Given the description of an element on the screen output the (x, y) to click on. 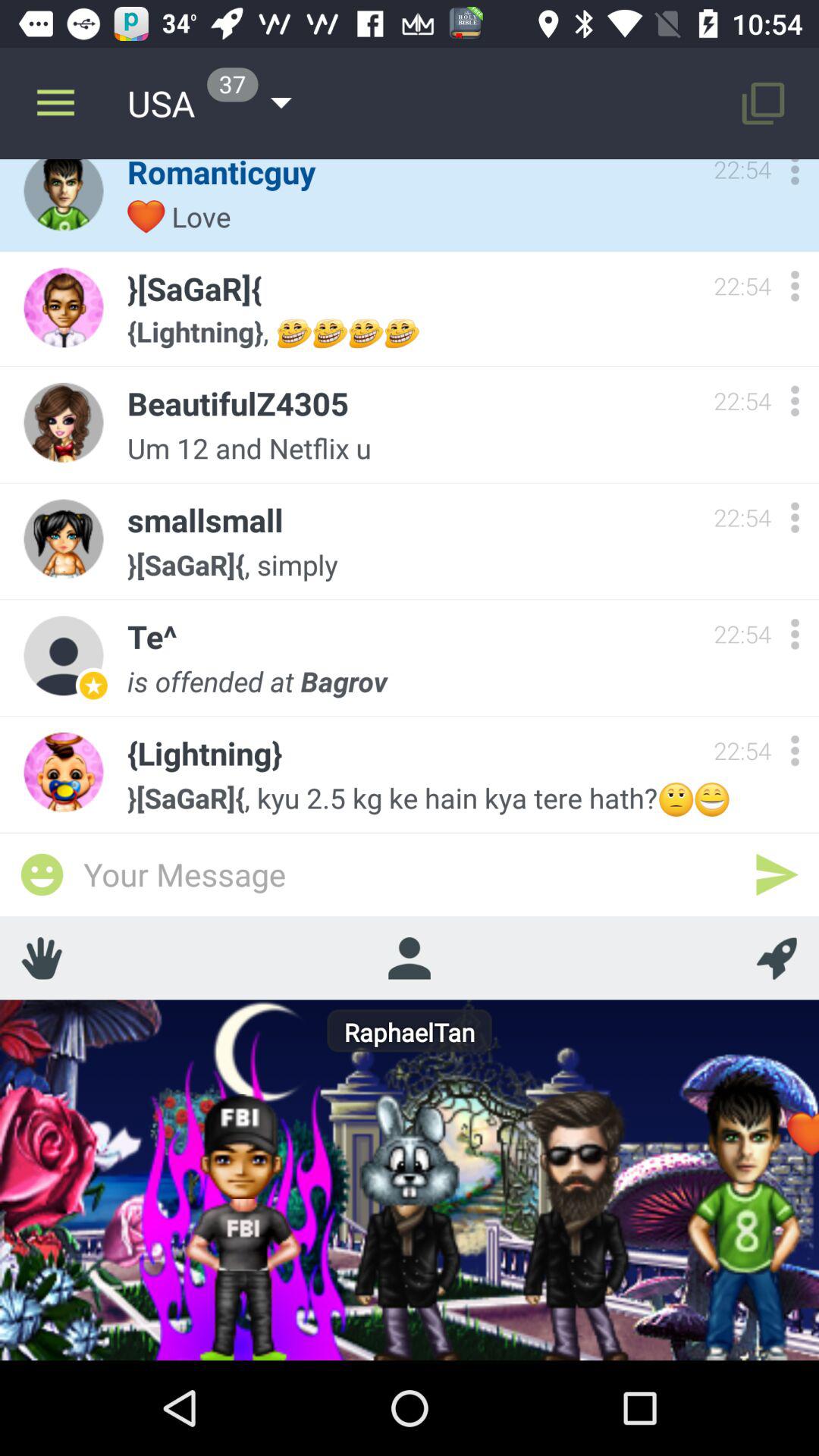
more options (795, 176)
